Given the description of an element on the screen output the (x, y) to click on. 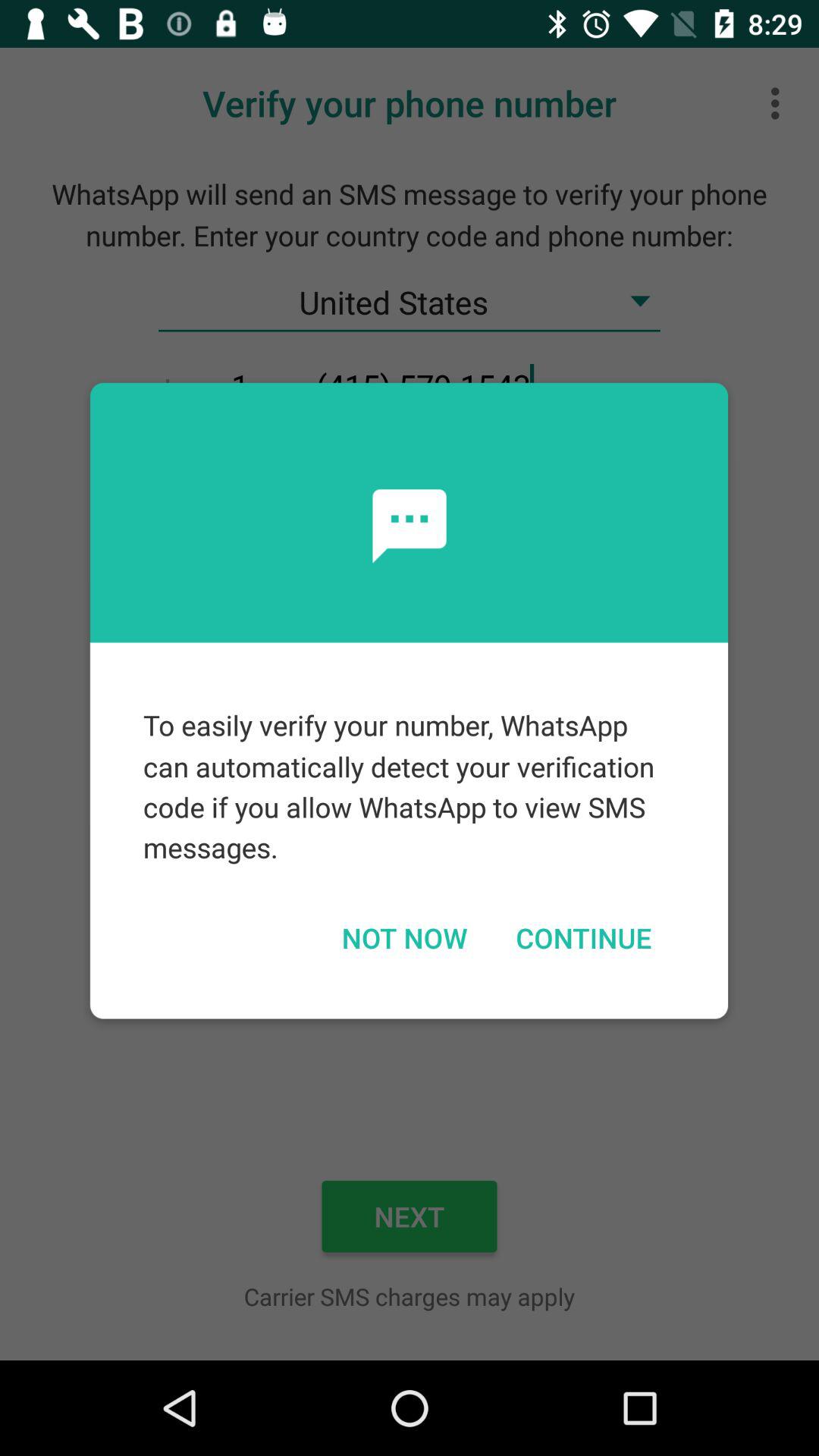
launch continue (583, 937)
